Given the description of an element on the screen output the (x, y) to click on. 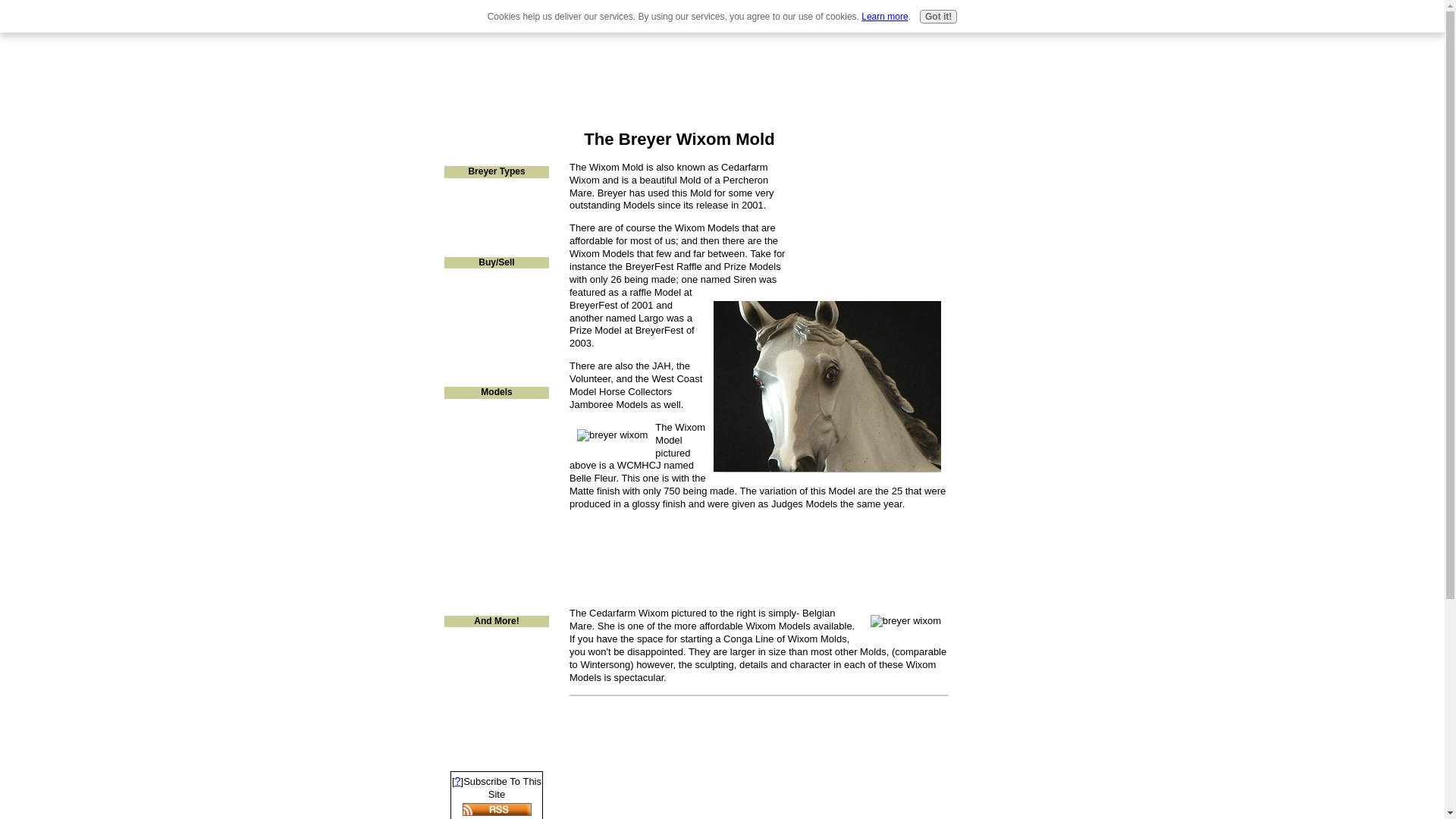
Traditional (496, 247)
Just About Horses (496, 566)
Selling Guide (496, 156)
Classics (496, 227)
Vintage (496, 188)
Huckleberry Bey (496, 586)
Greeting Cards (496, 656)
Retired Models (496, 207)
Bargain Finding (496, 278)
Learn more (884, 16)
